Given the description of an element on the screen output the (x, y) to click on. 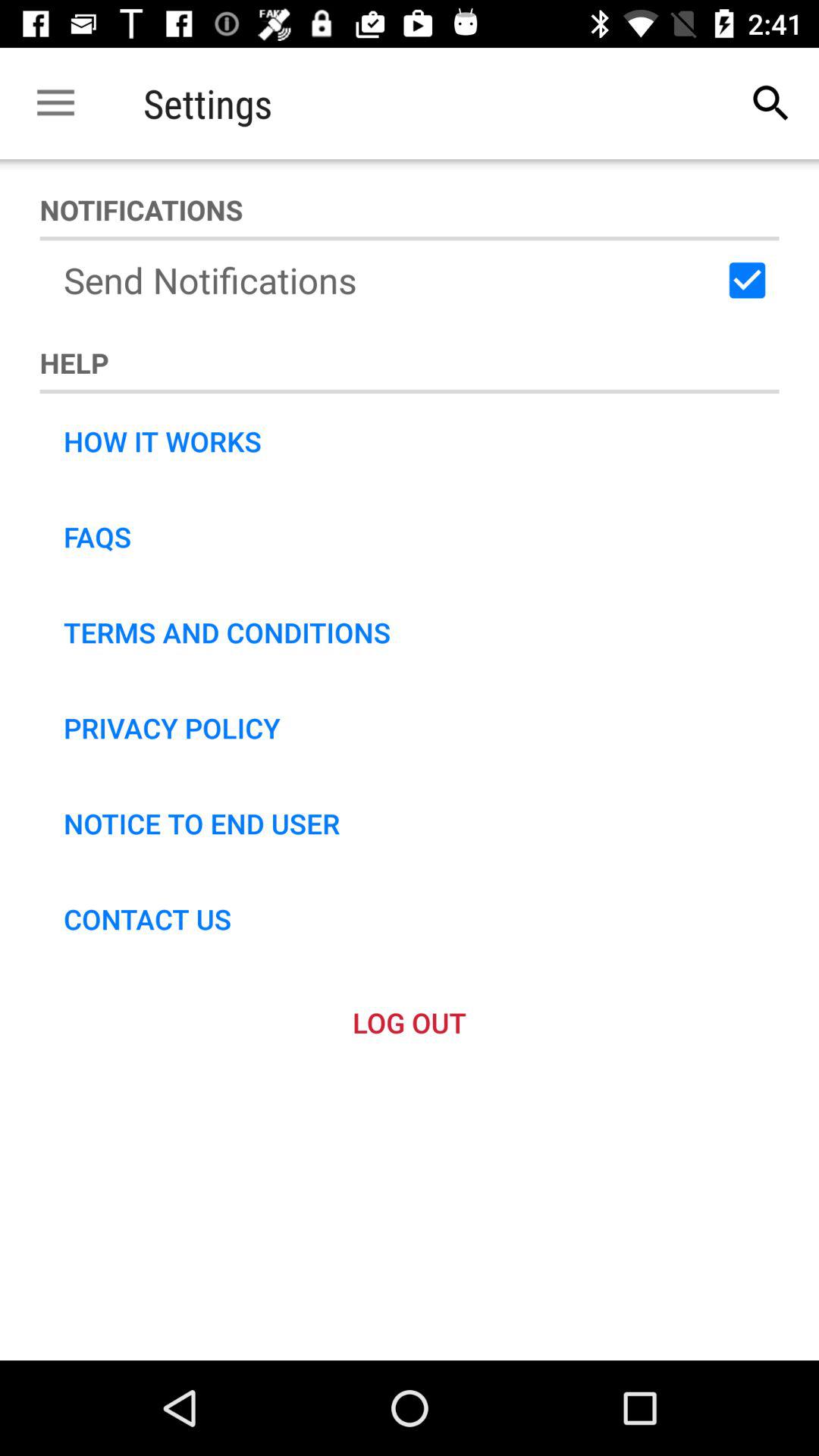
select the privacy policy icon (171, 727)
